Given the description of an element on the screen output the (x, y) to click on. 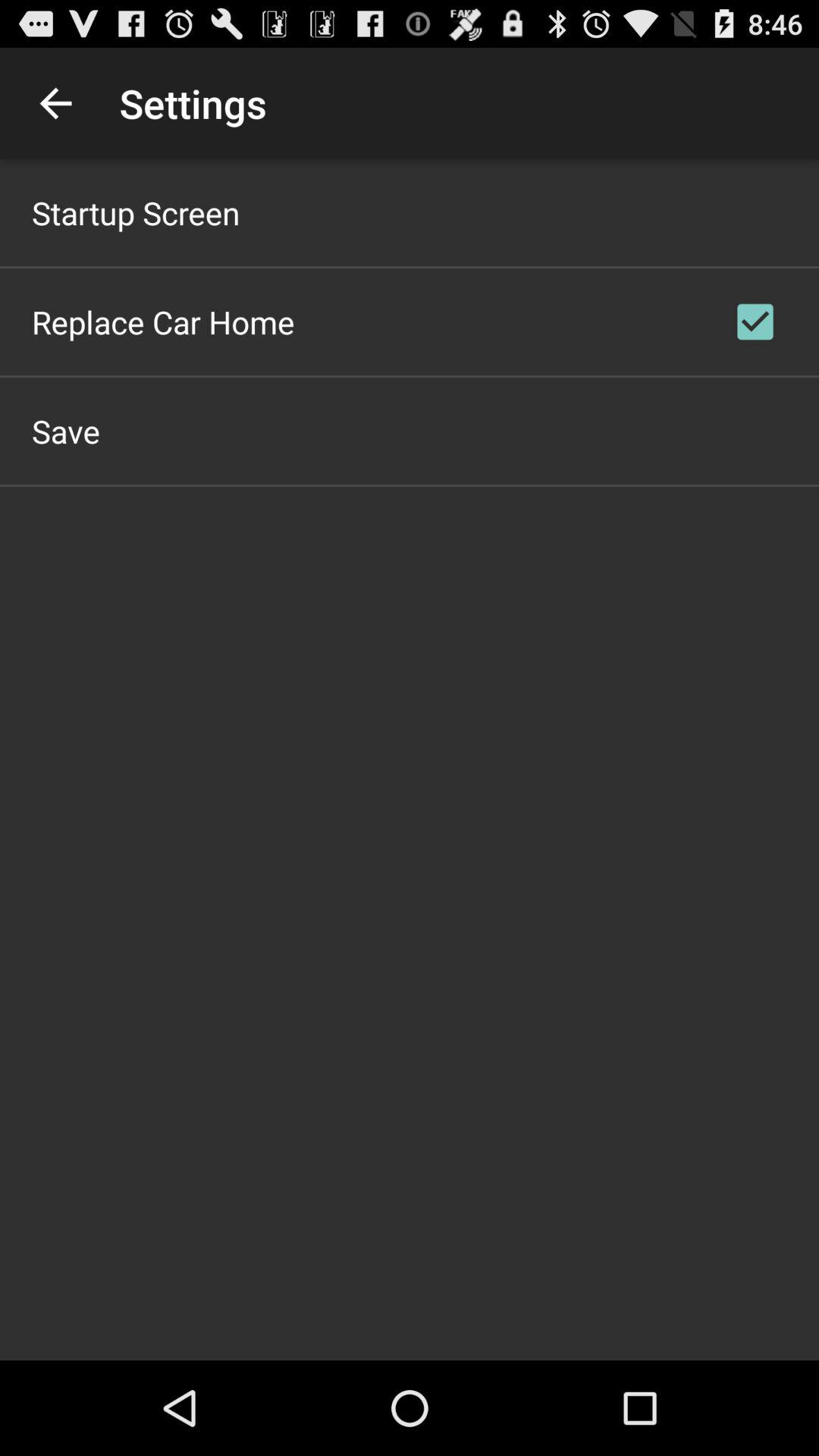
turn off icon to the left of settings app (55, 103)
